Given the description of an element on the screen output the (x, y) to click on. 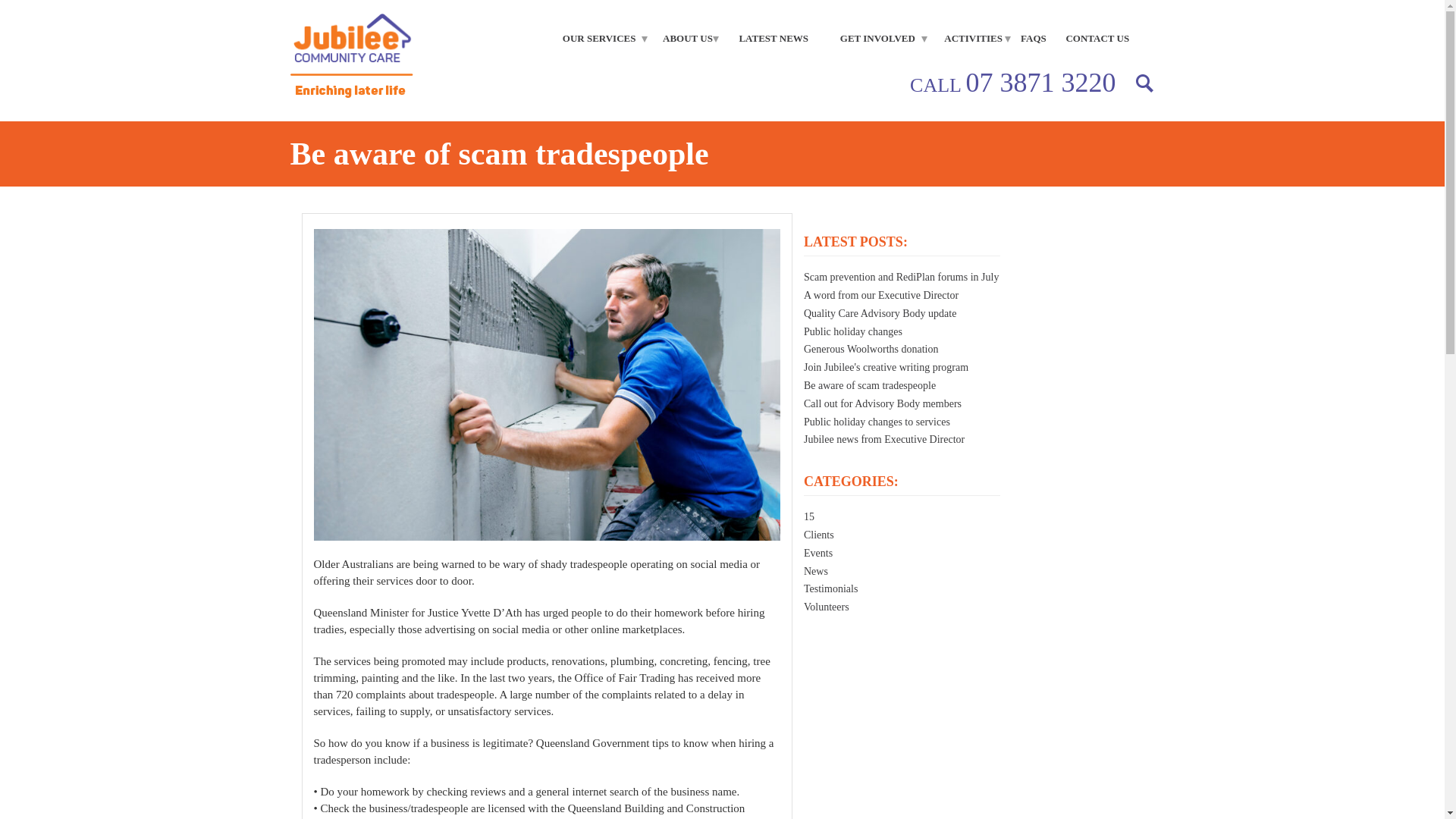
A word from our Executive Director (880, 295)
07 3871 3220 (1040, 82)
Generous Woolworths donation (870, 348)
LATEST NEWS (773, 38)
GET INVOLVED (877, 38)
OUR SERVICES (599, 38)
Quality Care Advisory Body update (879, 313)
Join Jubilee's creative writing program (885, 367)
CONTACT US (1096, 38)
ABOUT US (687, 38)
Public holiday changes (852, 331)
ACTIVITIES (972, 38)
Call out for Advisory Body members (881, 403)
Scam prevention and RediPlan forums in July (900, 276)
Be aware of scam tradespeople (869, 385)
